Given the description of an element on the screen output the (x, y) to click on. 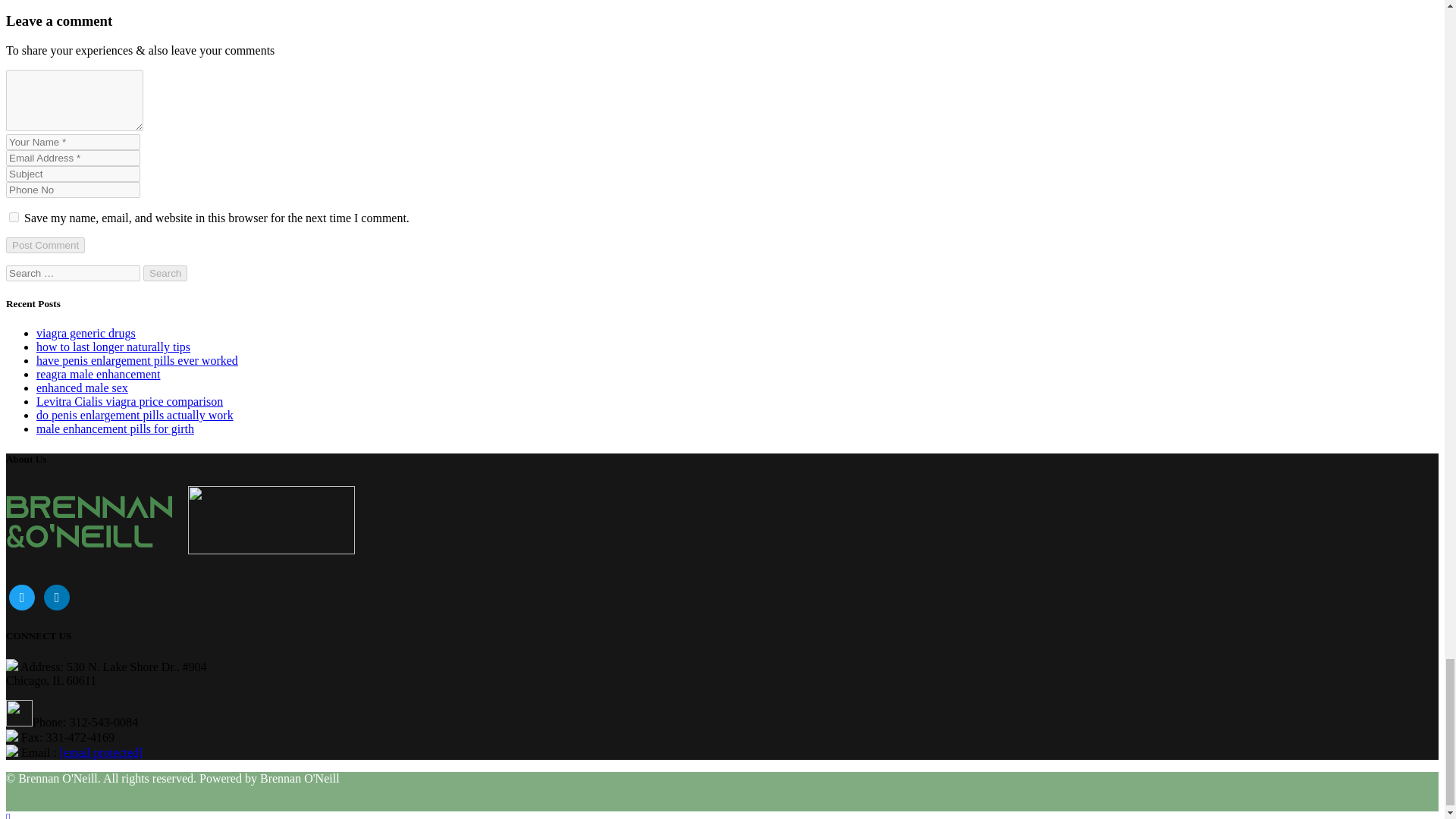
Levitra Cialis viagra price comparison (129, 400)
Search (164, 273)
how to last longer naturally tips (113, 346)
Post Comment (44, 245)
reagra male enhancement (98, 373)
do penis enlargement pills actually work (134, 414)
Search (164, 273)
viagra generic drugs (85, 332)
male enhancement pills for girth (114, 428)
Post Comment (44, 245)
